Given the description of an element on the screen output the (x, y) to click on. 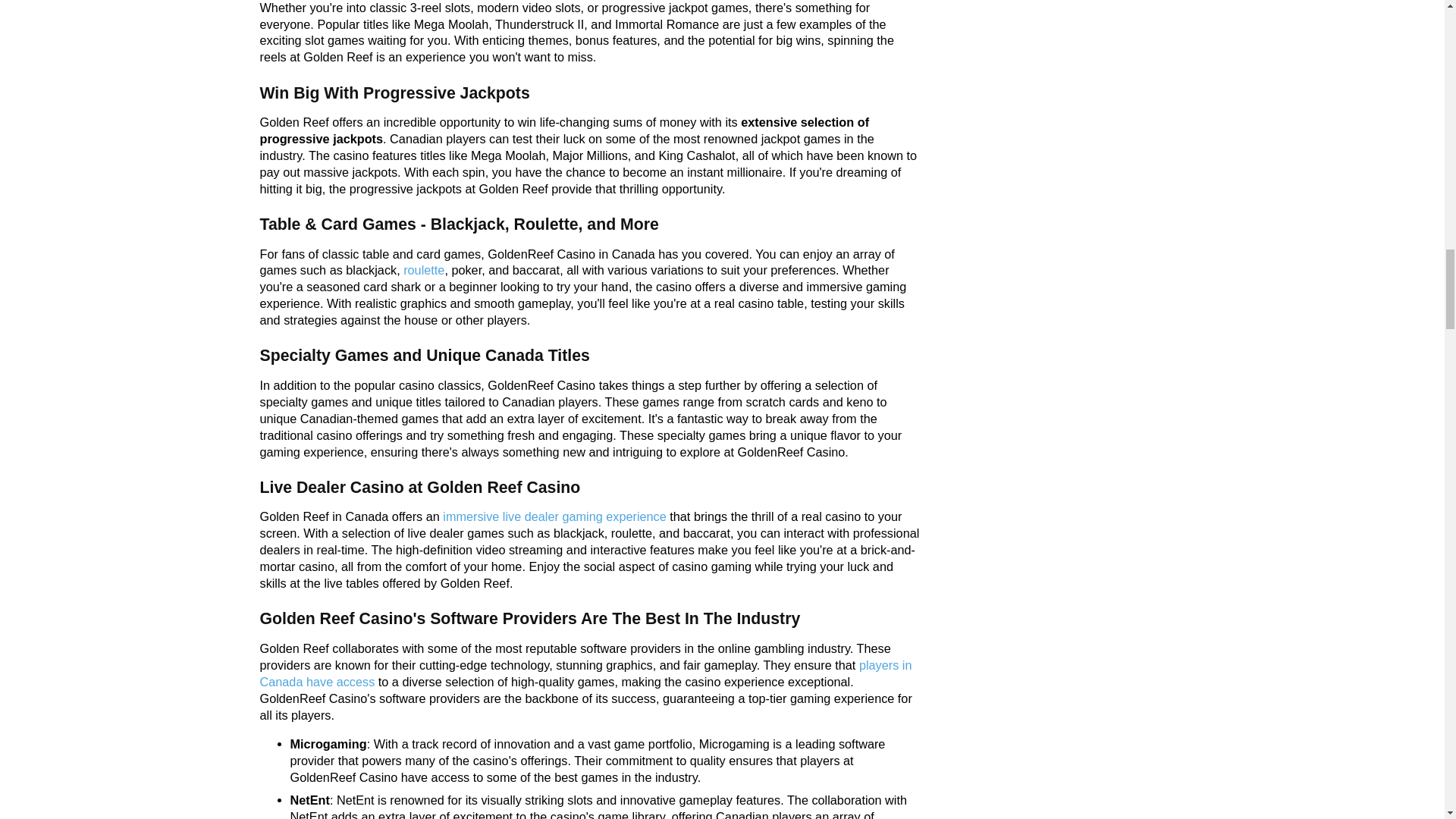
players in Canada have access (585, 673)
immersive live dealer gaming experience (553, 516)
roulette (423, 269)
